Given the description of an element on the screen output the (x, y) to click on. 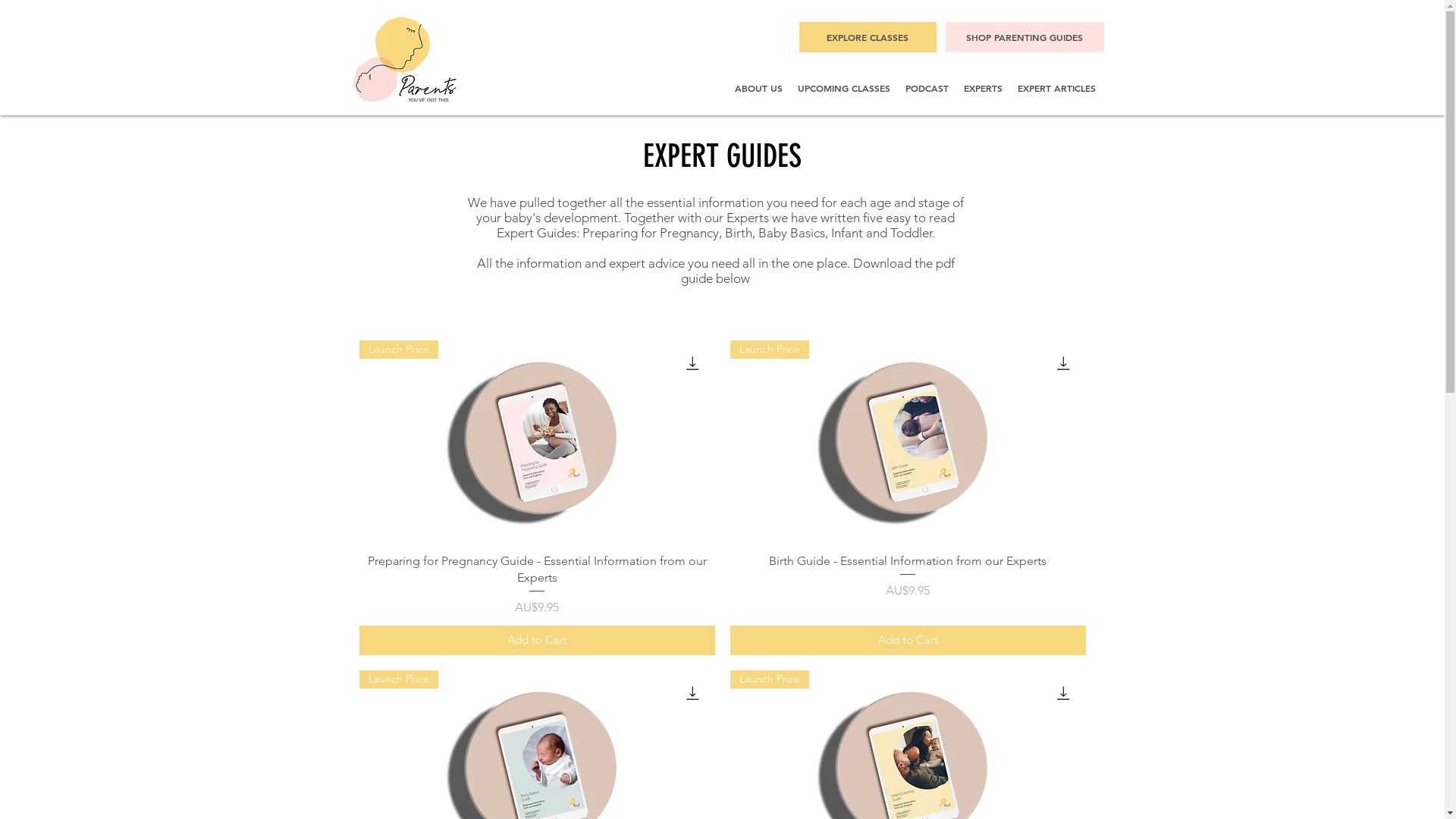
EXPLORE CLASSES Element type: text (867, 36)
Launch Price Element type: text (537, 440)
UPCOMING CLASSES Element type: text (843, 87)
EXPERTS Element type: text (982, 87)
SHOP PARENTING GUIDES Element type: text (1023, 36)
EXPERT ARTICLES Element type: text (1056, 87)
Launch Price Element type: text (907, 440)
PODCAST Element type: text (926, 87)
Add to Cart Element type: text (537, 640)
Add to Cart Element type: text (907, 640)
